Given the description of an element on the screen output the (x, y) to click on. 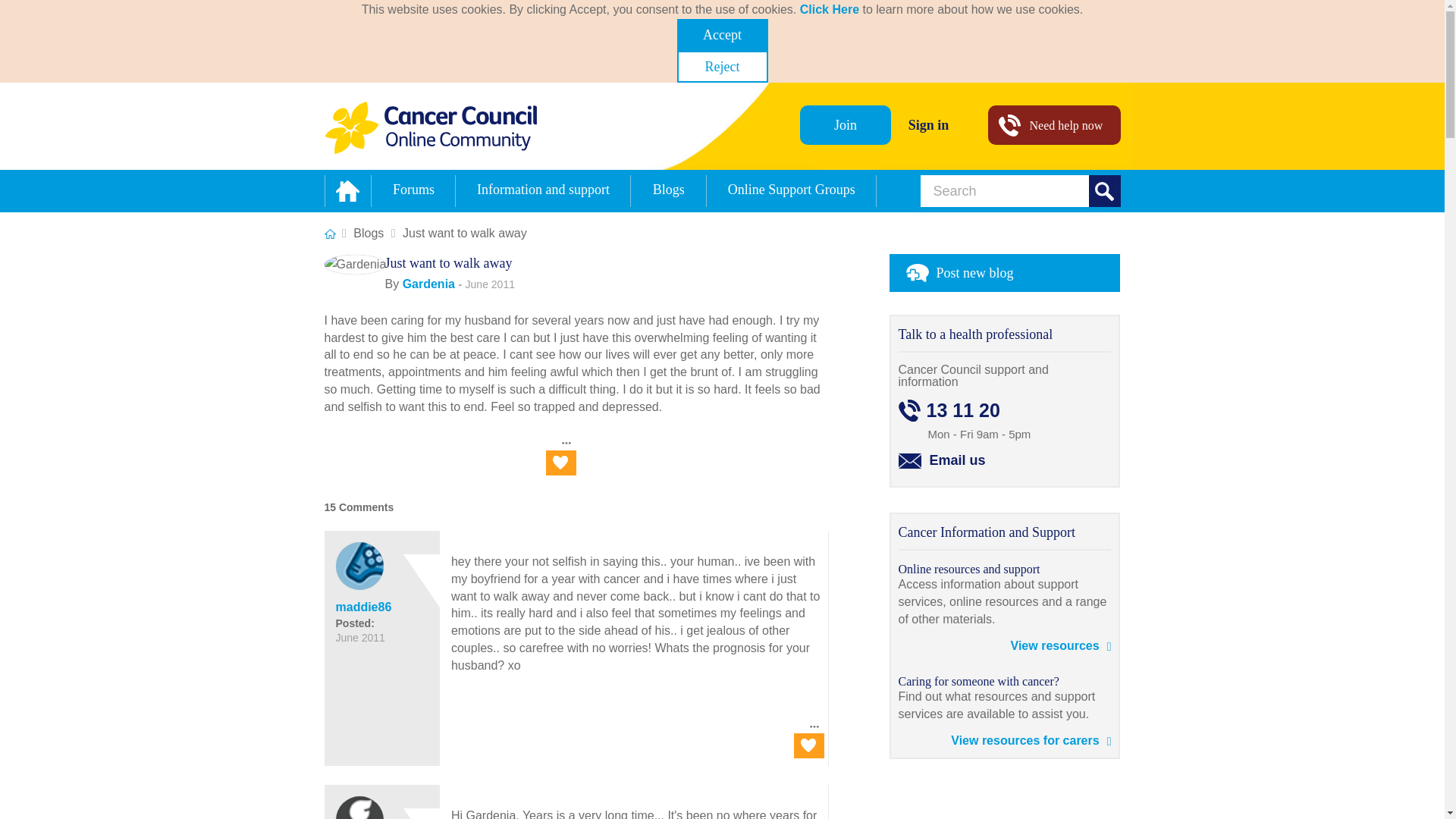
Click Here (829, 9)
Accept (722, 34)
Cancer Connections (330, 233)
Search (1105, 191)
Sign in (928, 124)
Reject (722, 66)
Search (1105, 191)
Need help now (1053, 124)
Gardenia (355, 263)
Join (845, 124)
